Given the description of an element on the screen output the (x, y) to click on. 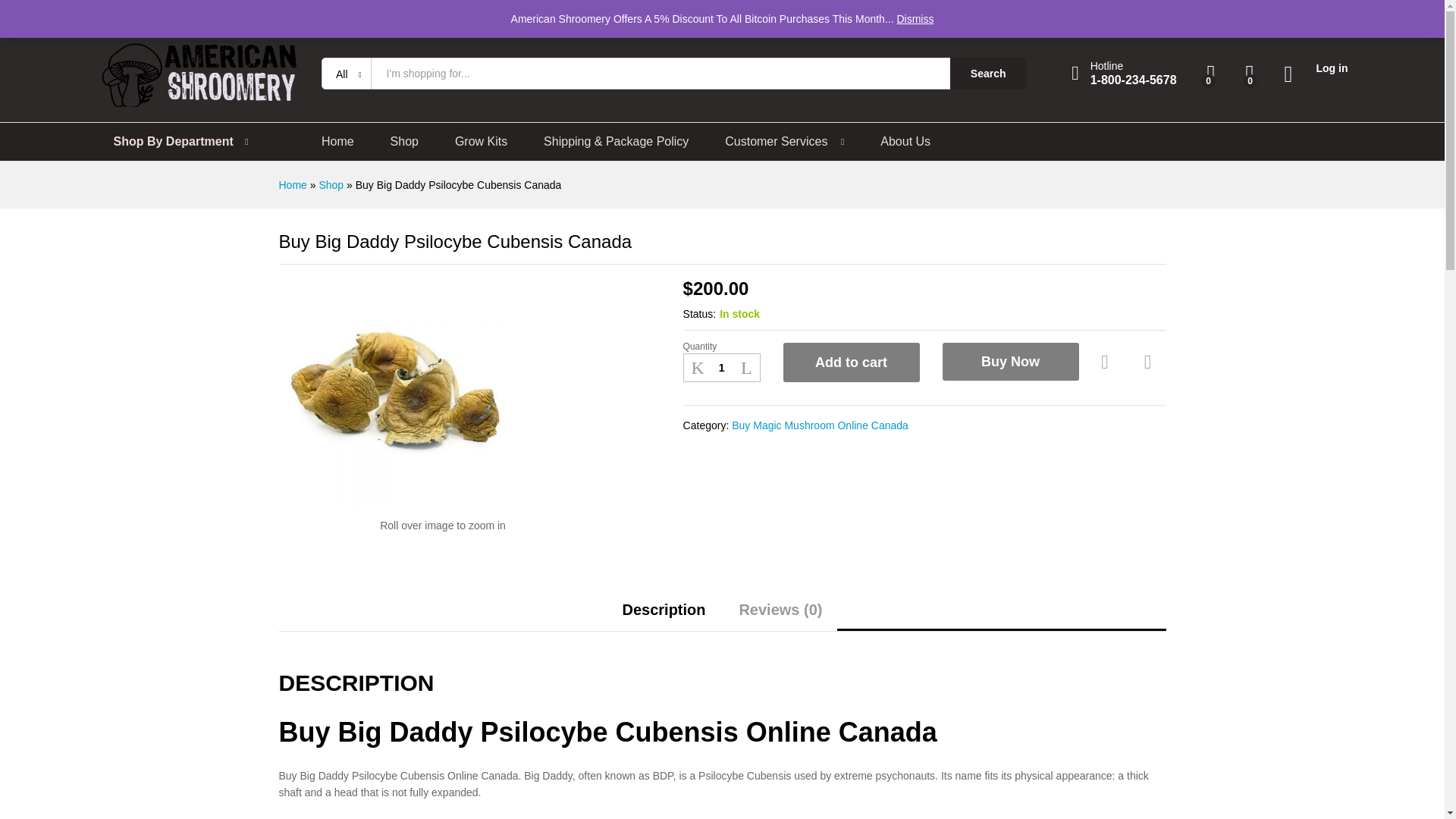
Qty (721, 367)
Log in (1316, 68)
1 (721, 367)
Buy-Big-Daddy-Psilocybe-Cubensis-Online-1.jpeg (392, 393)
Compare (1147, 362)
Add to wishlist (1106, 362)
Search (988, 73)
